Given the description of an element on the screen output the (x, y) to click on. 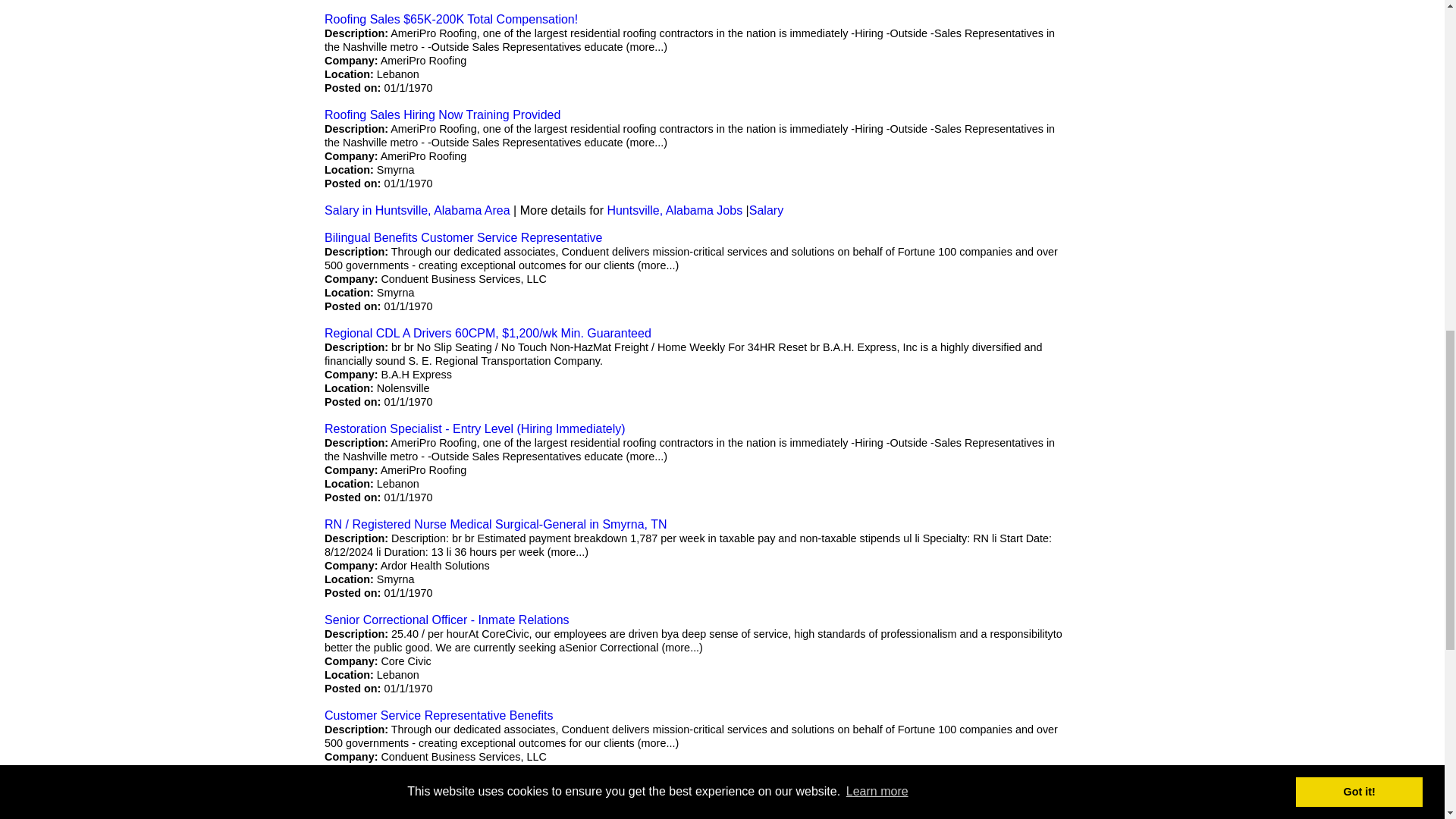
Huntsville, Alabama Jobs (674, 210)
Bilingual Benefits Customer Service Representative (463, 810)
Salary (766, 210)
Customer Service Representative Benefits (438, 715)
Roofing Sales Hiring Now Training Provided (442, 114)
Senior Correctional Officer - Inmate Relations (446, 619)
Bilingual Benefits Customer Service Representative (463, 237)
Salary in Huntsville, Alabama Area (417, 210)
Roofing Sales Hiring Now Training Provided (442, 114)
